Given the description of an element on the screen output the (x, y) to click on. 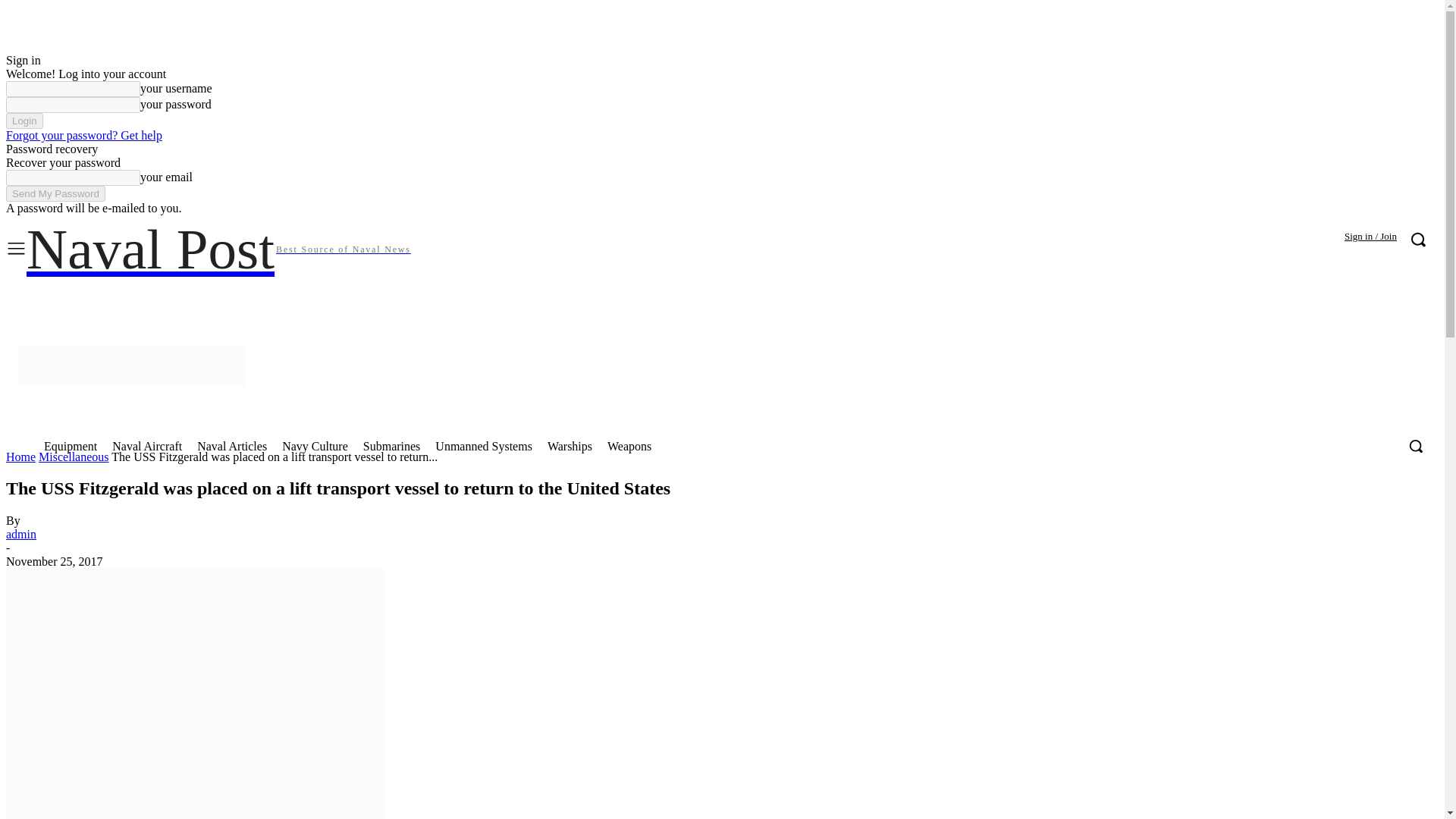
Facebook (1103, 297)
Unmanned Systems (484, 446)
Linkedin (1166, 297)
Login (24, 120)
Submarines (391, 446)
Tumblr (1262, 297)
Twitter (1293, 297)
Send My Password (54, 193)
Pinterest (1230, 297)
